Given the description of an element on the screen output the (x, y) to click on. 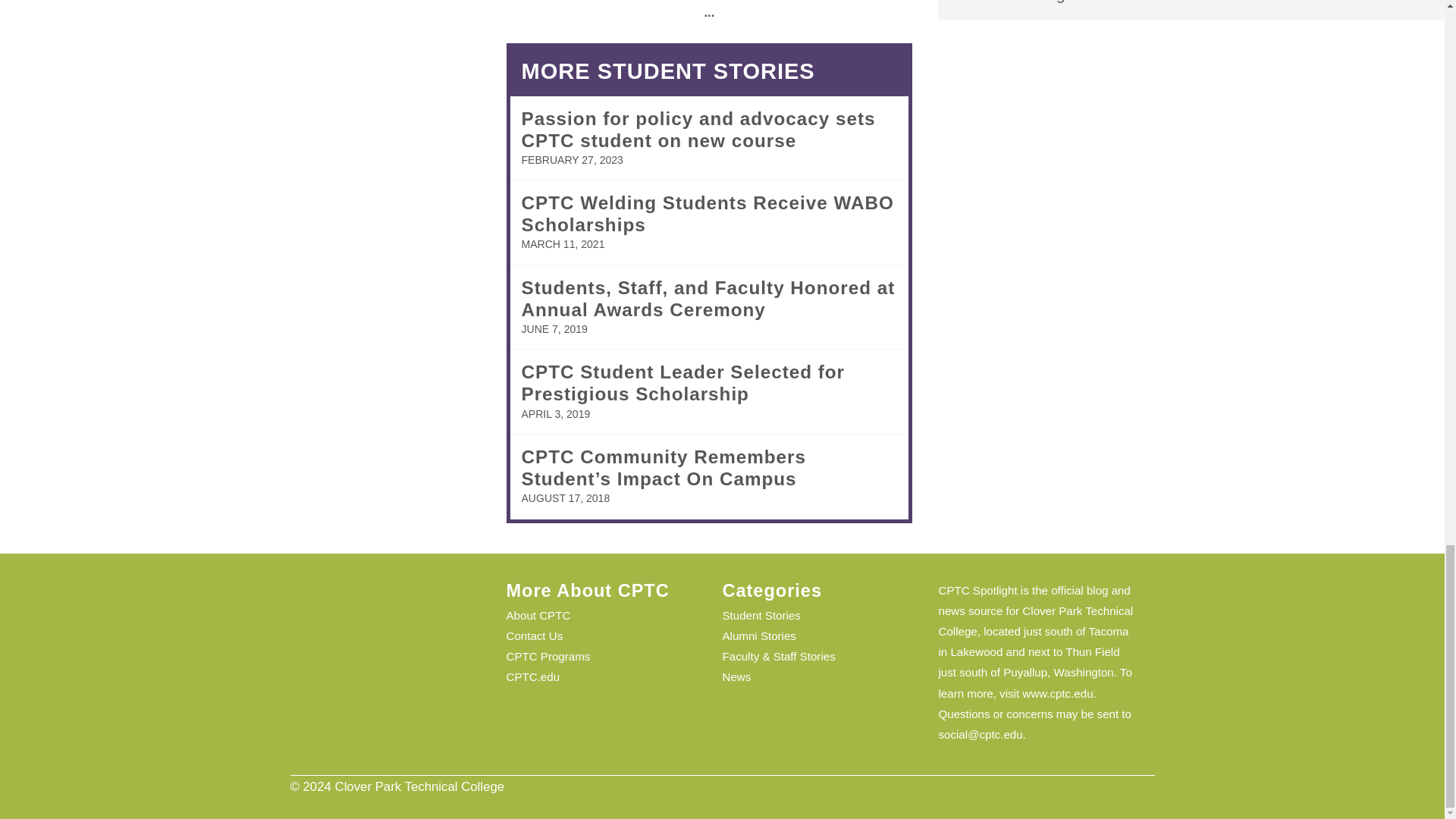
CPTC Student Leader Selected for Prestigious Scholarship (683, 382)
www.cptc.edu (1057, 693)
Alumni Stories (758, 635)
News (736, 676)
CPTC Welding Students Receive WABO Scholarships (707, 213)
CPTC.edu (533, 676)
Student Stories (760, 615)
About CPTC (538, 615)
Clover Park Technical College (1036, 621)
Contact Us (534, 635)
CPTC Programs (548, 656)
